Given the description of an element on the screen output the (x, y) to click on. 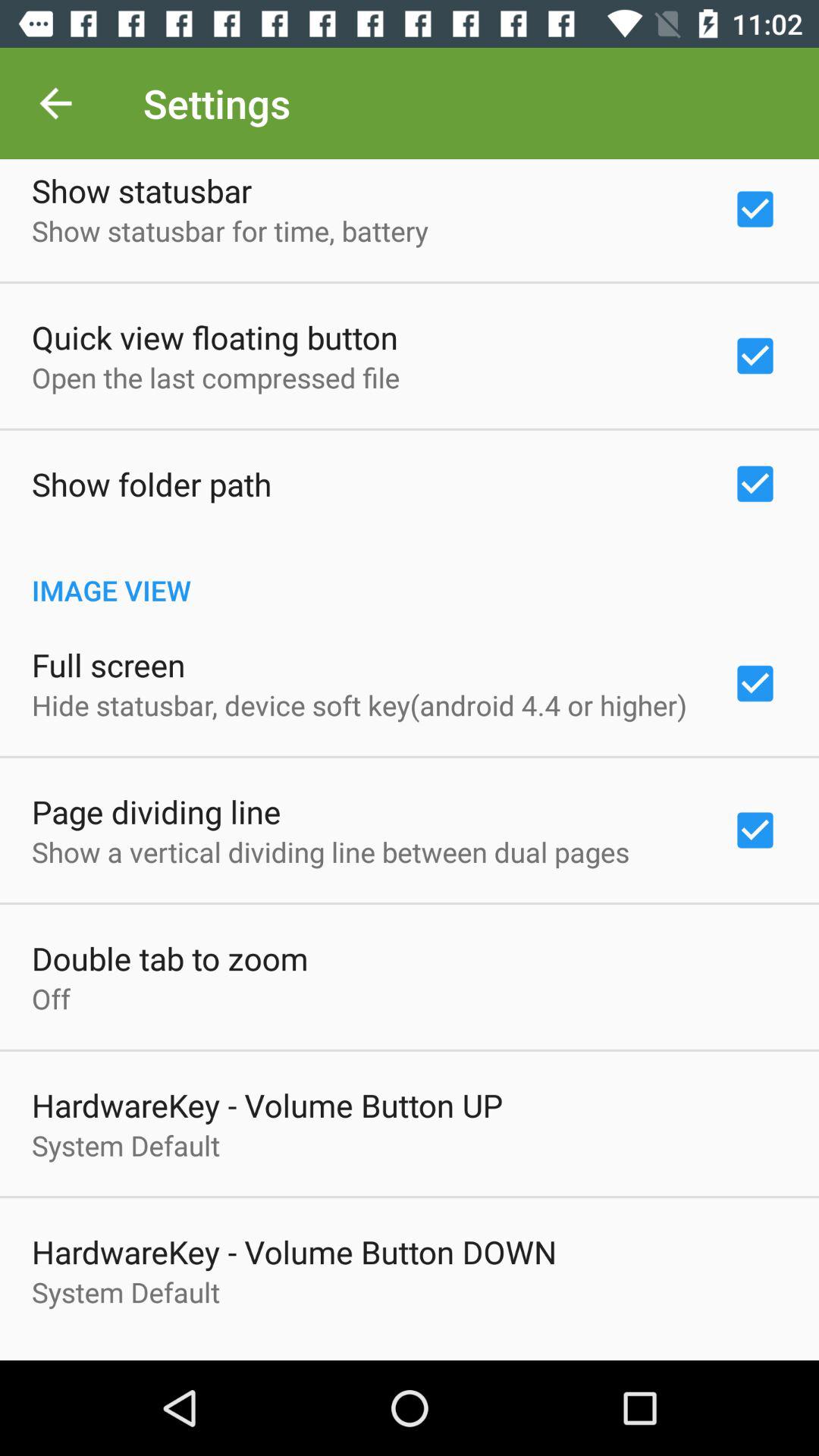
turn off the icon below open the last item (151, 483)
